Given the description of an element on the screen output the (x, y) to click on. 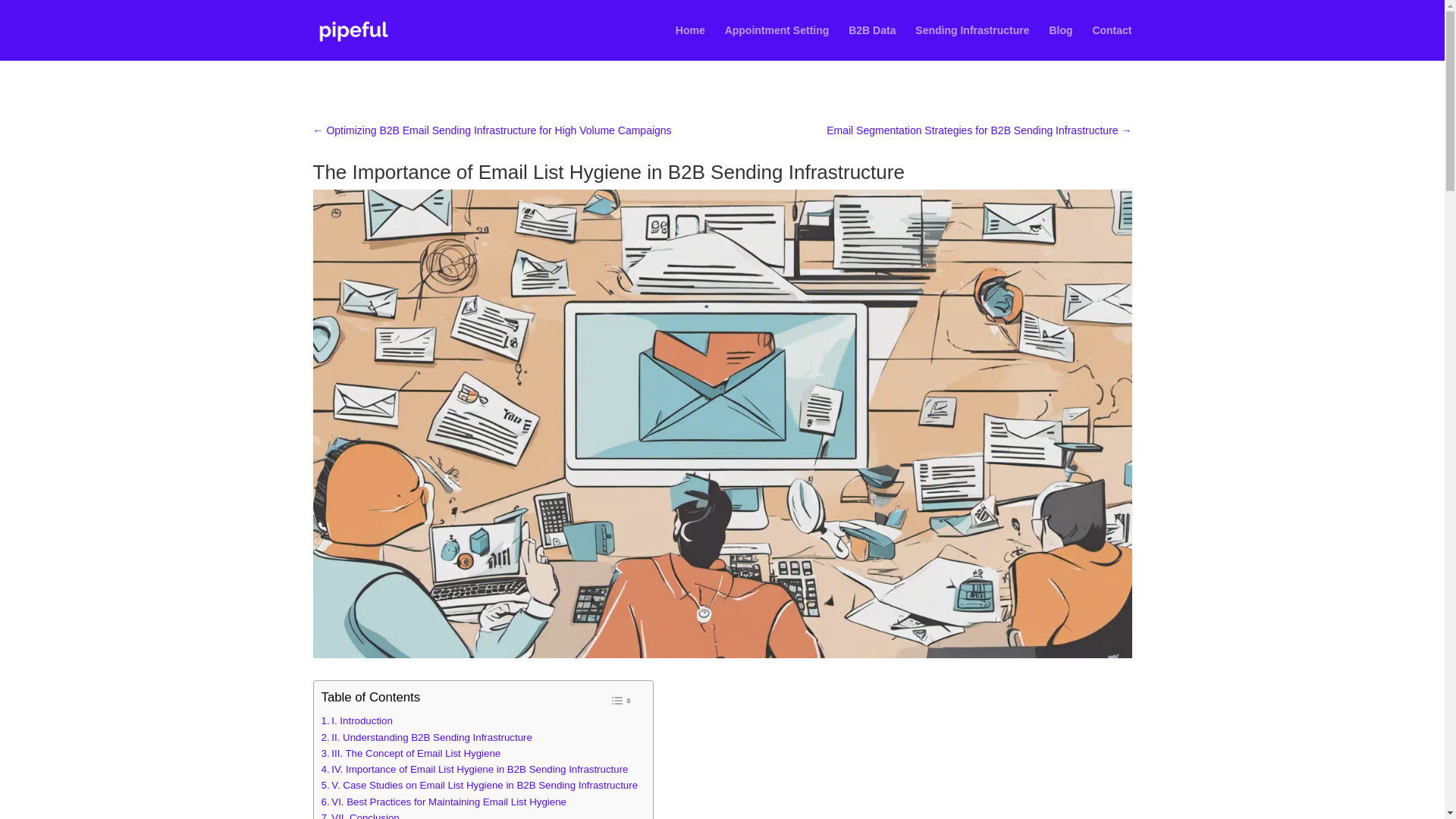
II. Understanding B2B Sending Infrastructure (426, 737)
VI. Best Practices for Maintaining Email List Hygiene (443, 801)
II. Understanding B2B Sending Infrastructure (426, 737)
III. The Concept of Email List Hygiene (410, 753)
I. Introduction (357, 720)
VI. Best Practices for Maintaining Email List Hygiene (443, 801)
I. Introduction (357, 720)
B2B Data (871, 42)
Appointment Setting (777, 42)
VII. Conclusion (359, 814)
Sending Infrastructure (972, 42)
Contact (1111, 42)
